Given the description of an element on the screen output the (x, y) to click on. 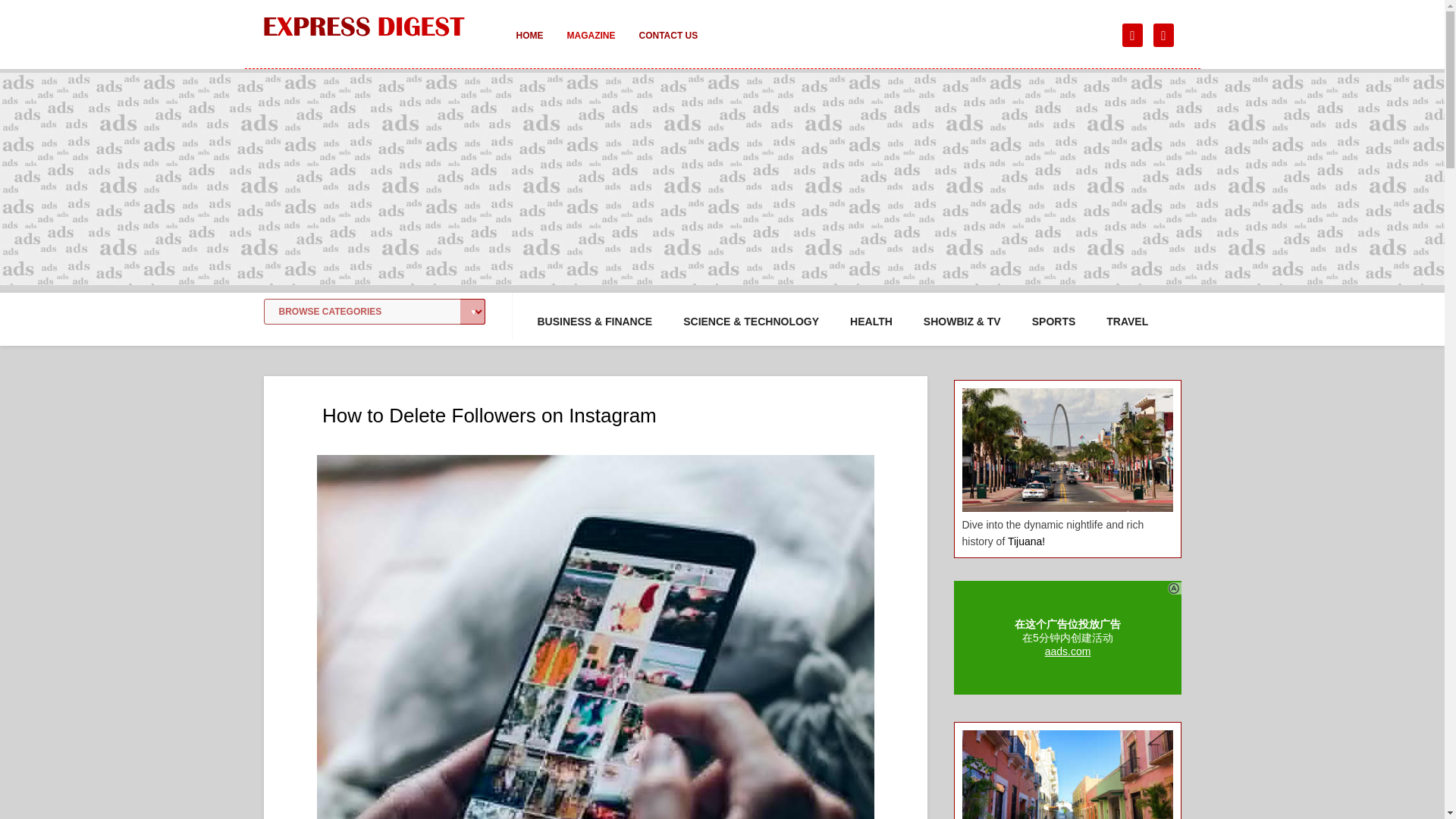
SPORTS (1053, 321)
Tijuana! (1026, 541)
HEALTH (871, 321)
MAGAZINE (590, 45)
TRAVEL (1127, 321)
CONTACT US (667, 45)
